Given the description of an element on the screen output the (x, y) to click on. 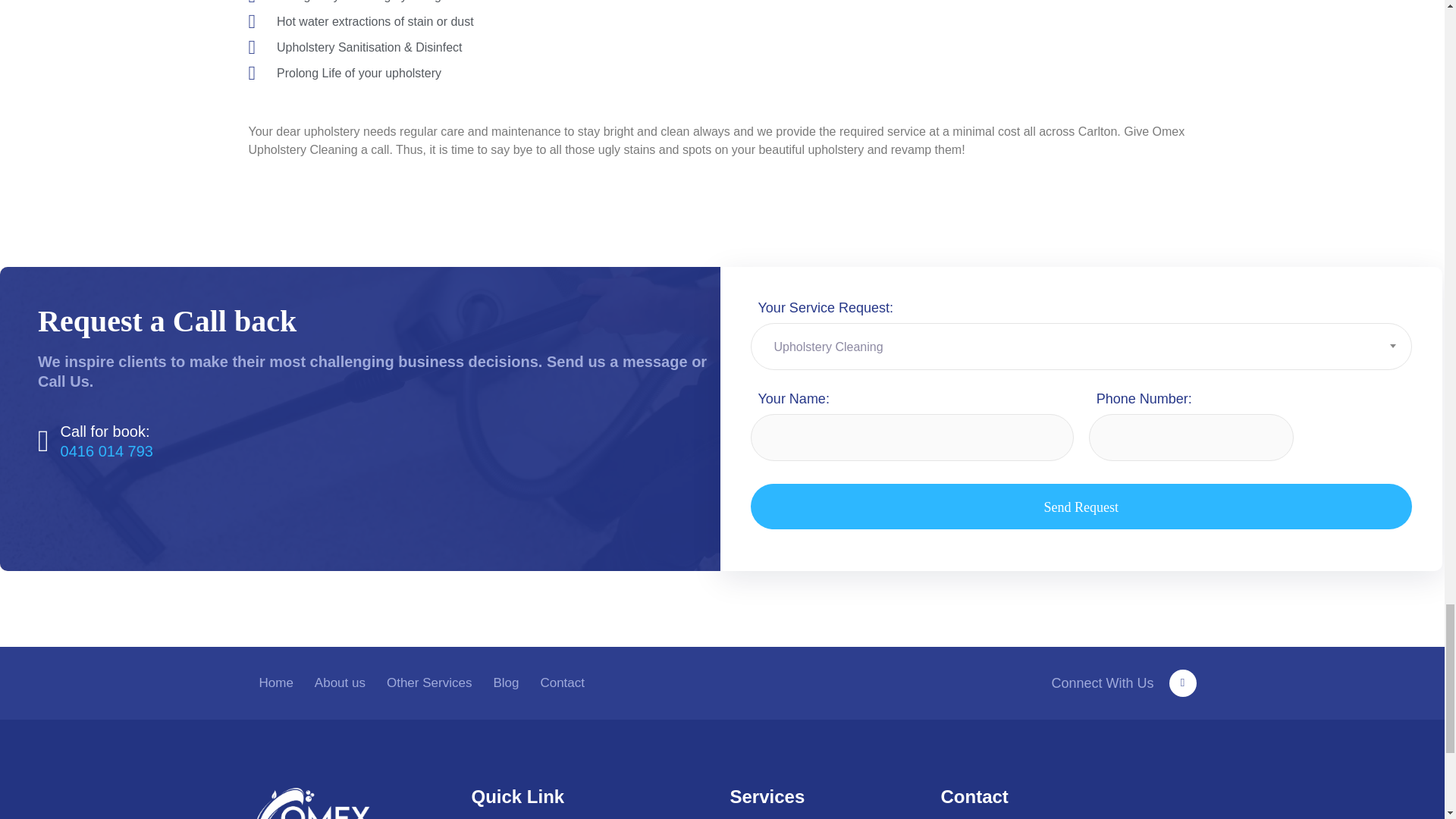
Send Request (1081, 506)
Other Services (428, 682)
About us (339, 682)
0416 014 793 (106, 451)
Contact (562, 682)
Blog (505, 682)
Send Request (1081, 506)
Home (276, 682)
